Given the description of an element on the screen output the (x, y) to click on. 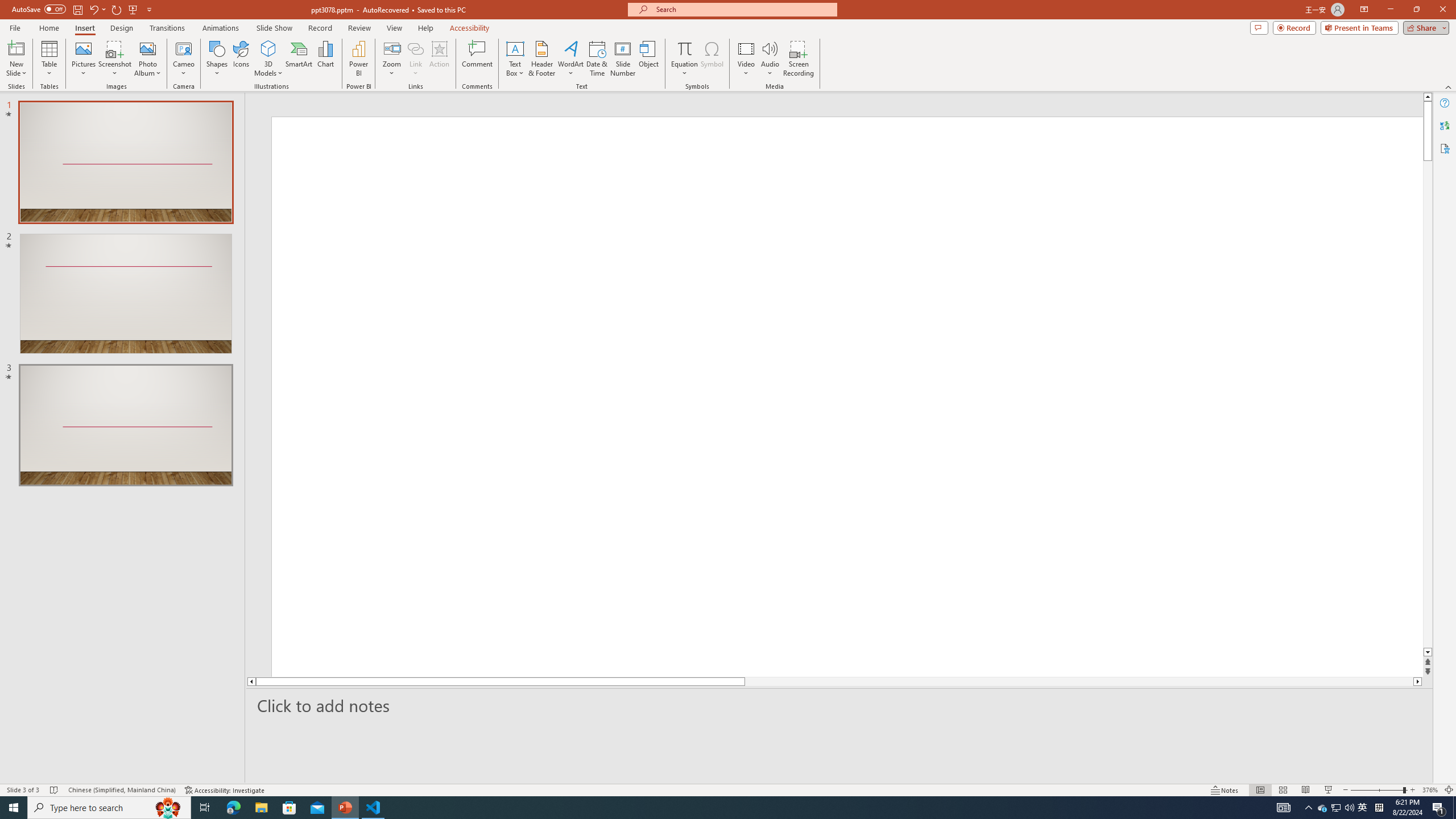
Photo Album... (147, 58)
An abstract genetic concept (834, 395)
Equation (683, 58)
